Given the description of an element on the screen output the (x, y) to click on. 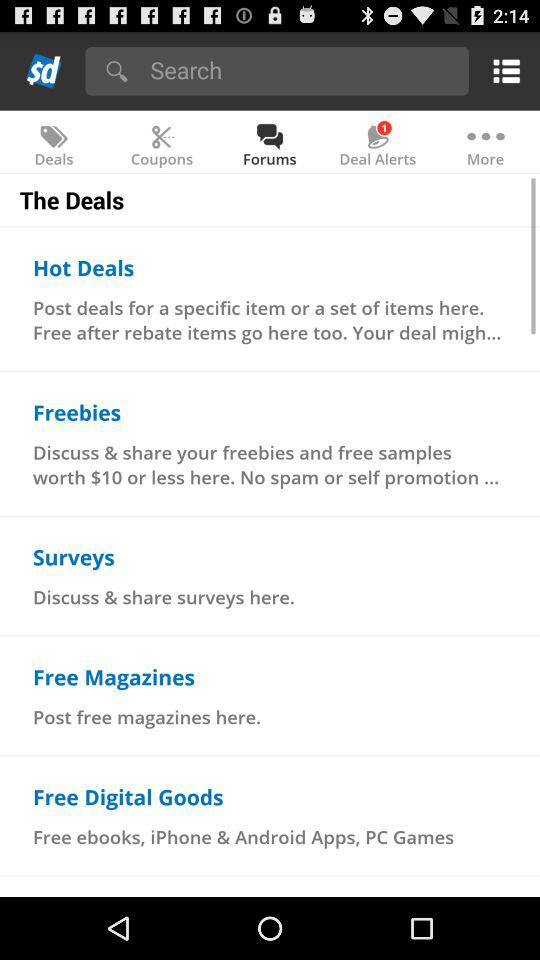
open app above more (502, 70)
